Given the description of an element on the screen output the (x, y) to click on. 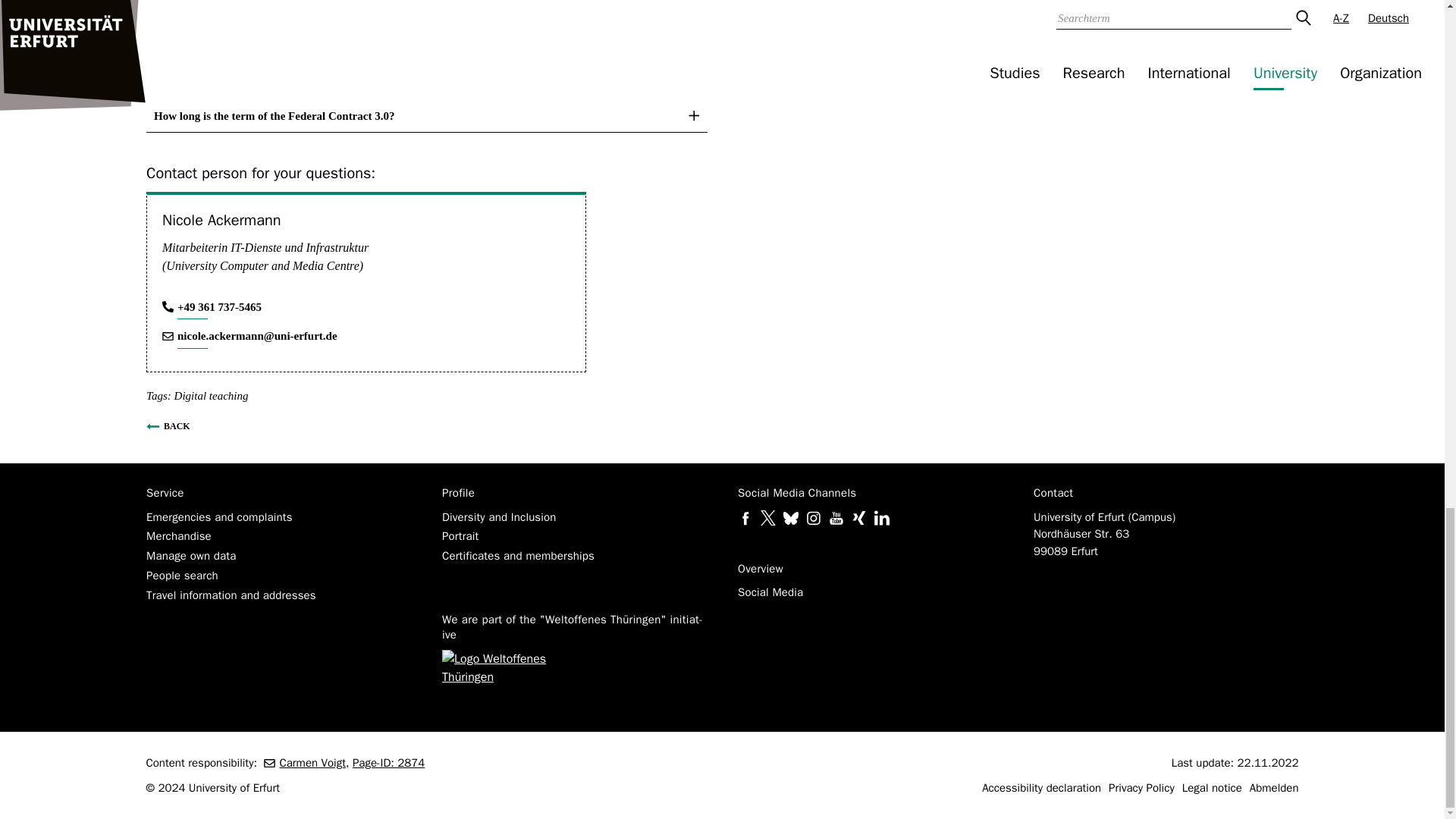
People search (180, 575)
Certificates and memberships (517, 555)
Manage own data (190, 555)
Social Media (769, 591)
Merchandise (178, 535)
Portrait (460, 535)
Travel information and addresses (230, 594)
Emergencies and complaints (218, 516)
Diversity and Inclusion (498, 516)
